Given the description of an element on the screen output the (x, y) to click on. 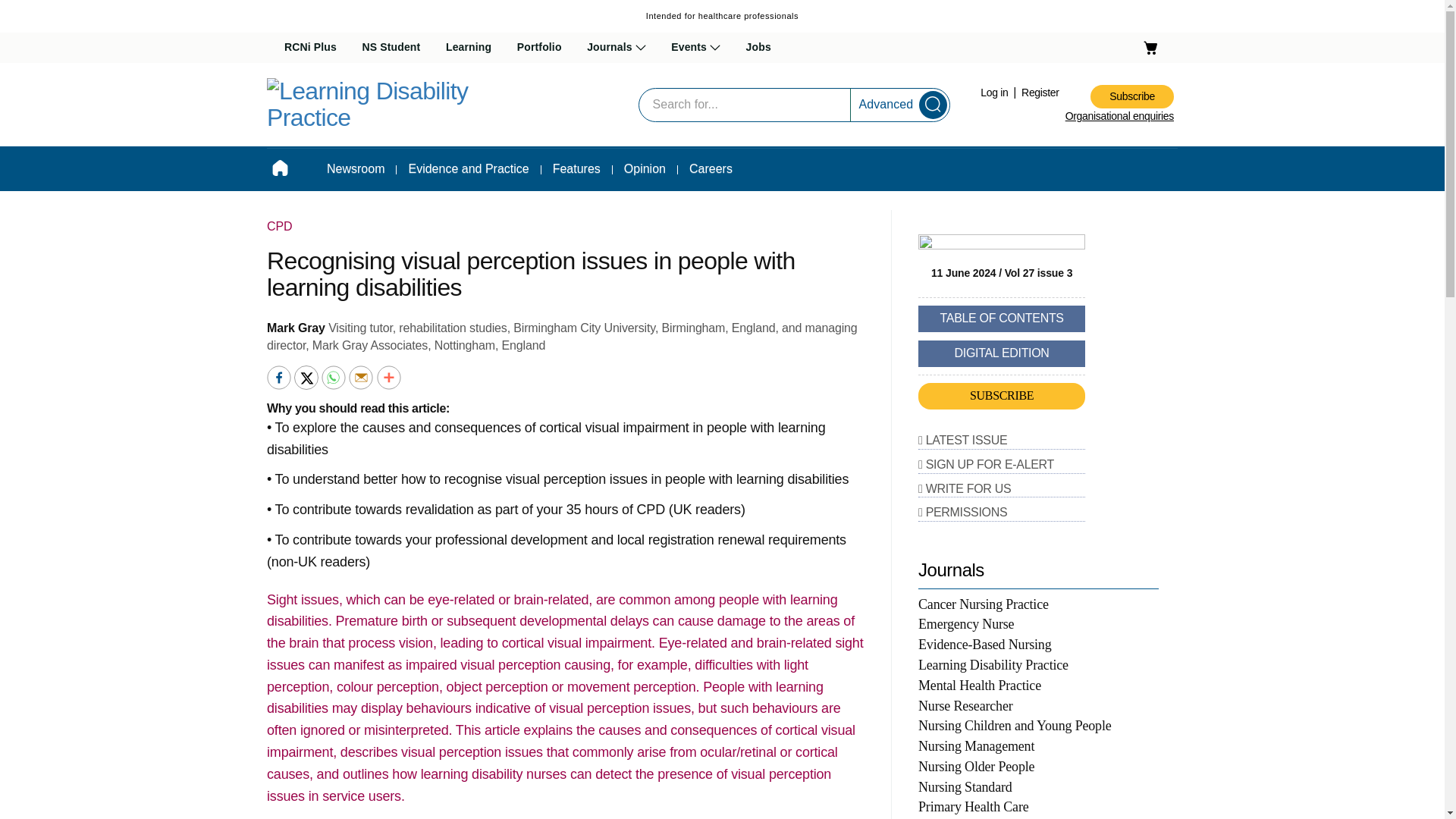
Whatsapp (335, 376)
Advanced (885, 103)
Evidence and Practice (468, 169)
Email (362, 376)
Journals (616, 47)
Subscribe (1131, 96)
More... (389, 376)
Learning (468, 47)
Jobs (758, 47)
RCN Nursing Awards (734, 85)
Newsroom (355, 169)
Facebook (280, 376)
Portfolio (539, 47)
Events (695, 47)
Log in (994, 92)
